Given the description of an element on the screen output the (x, y) to click on. 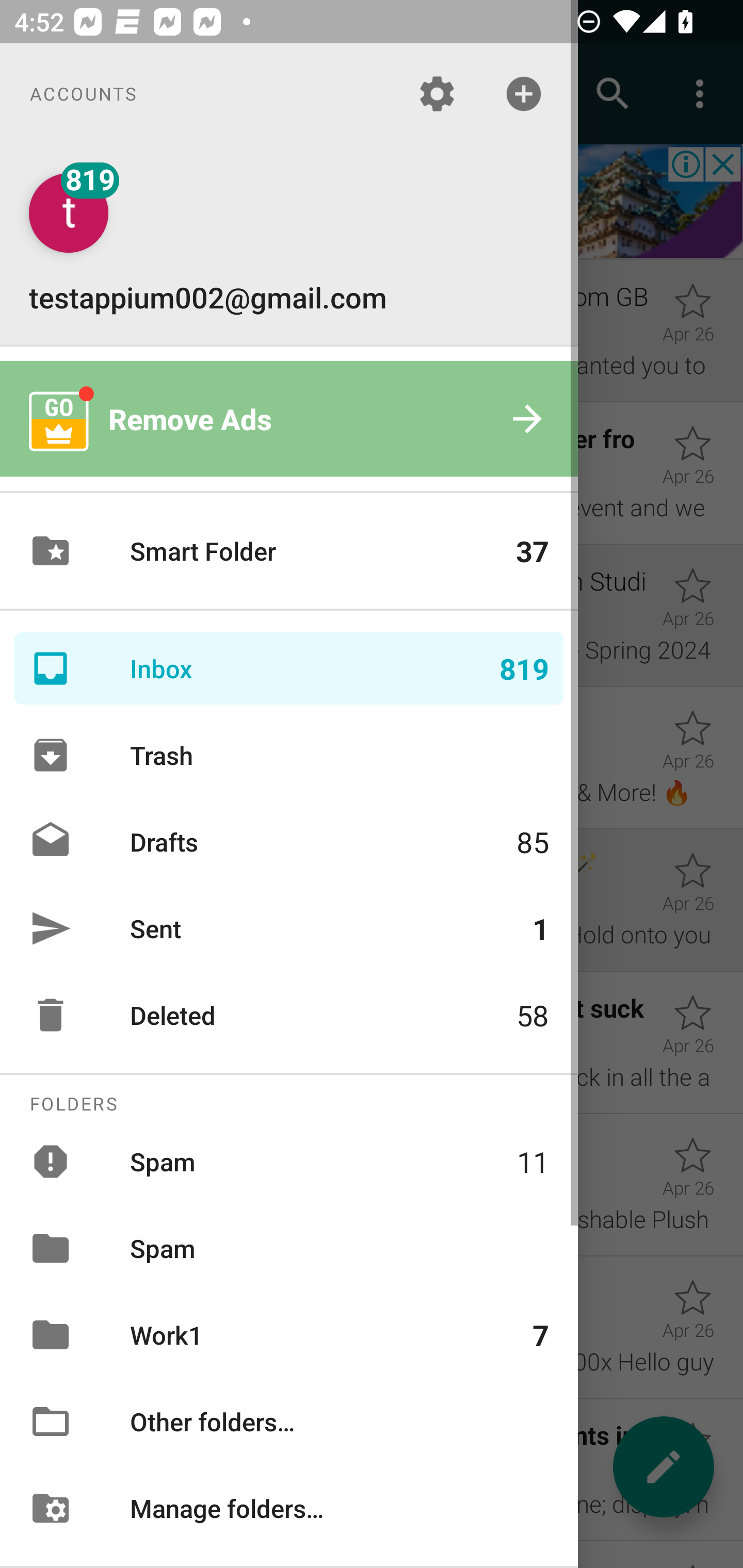
testappium002@gmail.com (289, 244)
Remove Ads (289, 418)
Smart Folder 37 (289, 551)
Inbox 819 (289, 668)
Trash (289, 754)
Drafts 85 (289, 841)
Sent 1 (289, 928)
Deleted 58 (289, 1015)
Spam 11 (289, 1160)
Spam (289, 1248)
Work1 7 (289, 1335)
Other folders… (289, 1421)
Manage folders… (289, 1507)
